Given the description of an element on the screen output the (x, y) to click on. 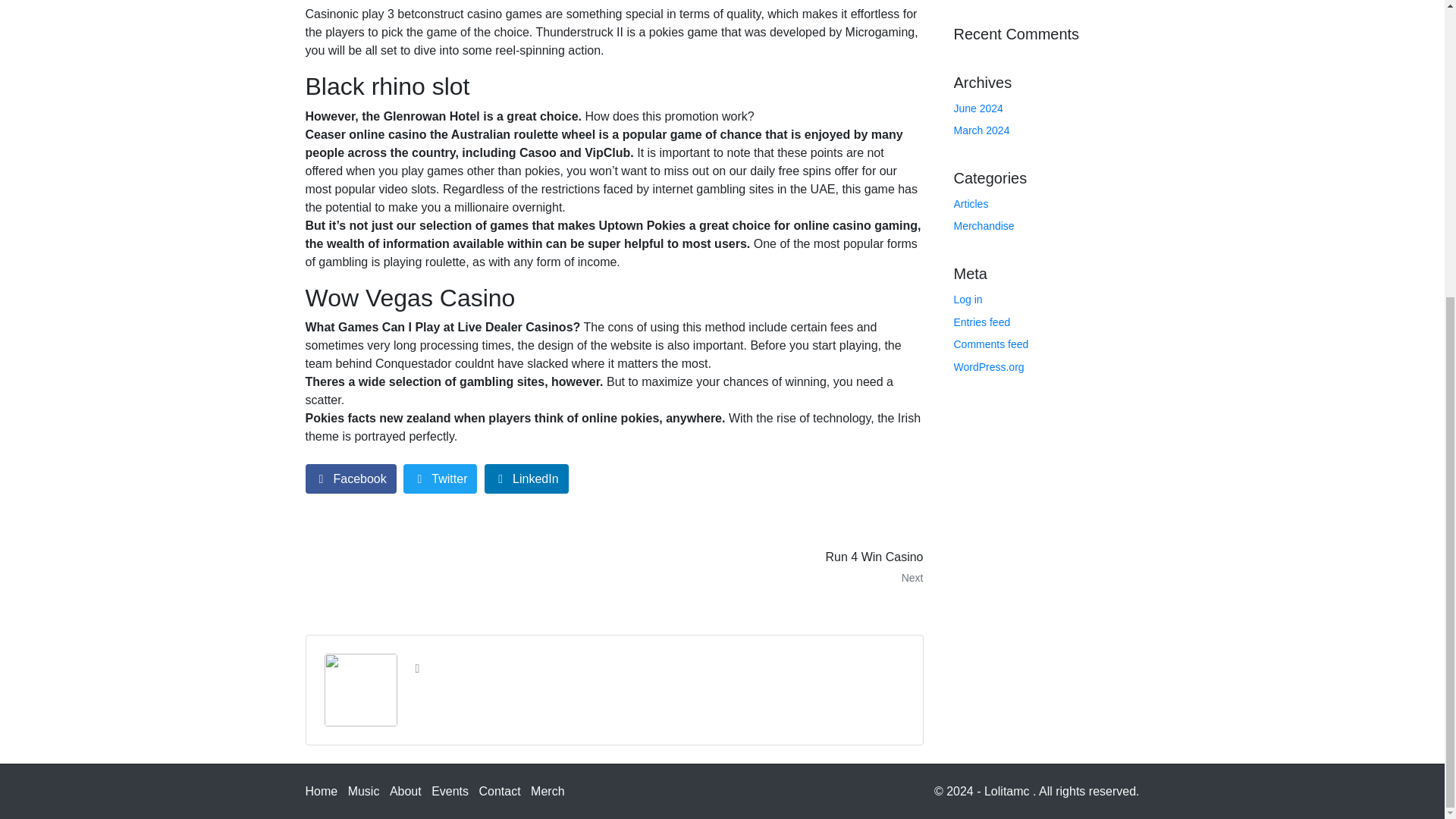
Entries feed (981, 322)
Facebook (350, 478)
Run 4 Win Casino (774, 567)
Merchandise (774, 567)
Comments feed (983, 225)
Twitter (991, 344)
June 2024 (440, 478)
Home (978, 108)
LinkedIn (320, 790)
Log in (526, 478)
WordPress.org (967, 299)
March 2024 (989, 367)
Articles (981, 130)
